Given the description of an element on the screen output the (x, y) to click on. 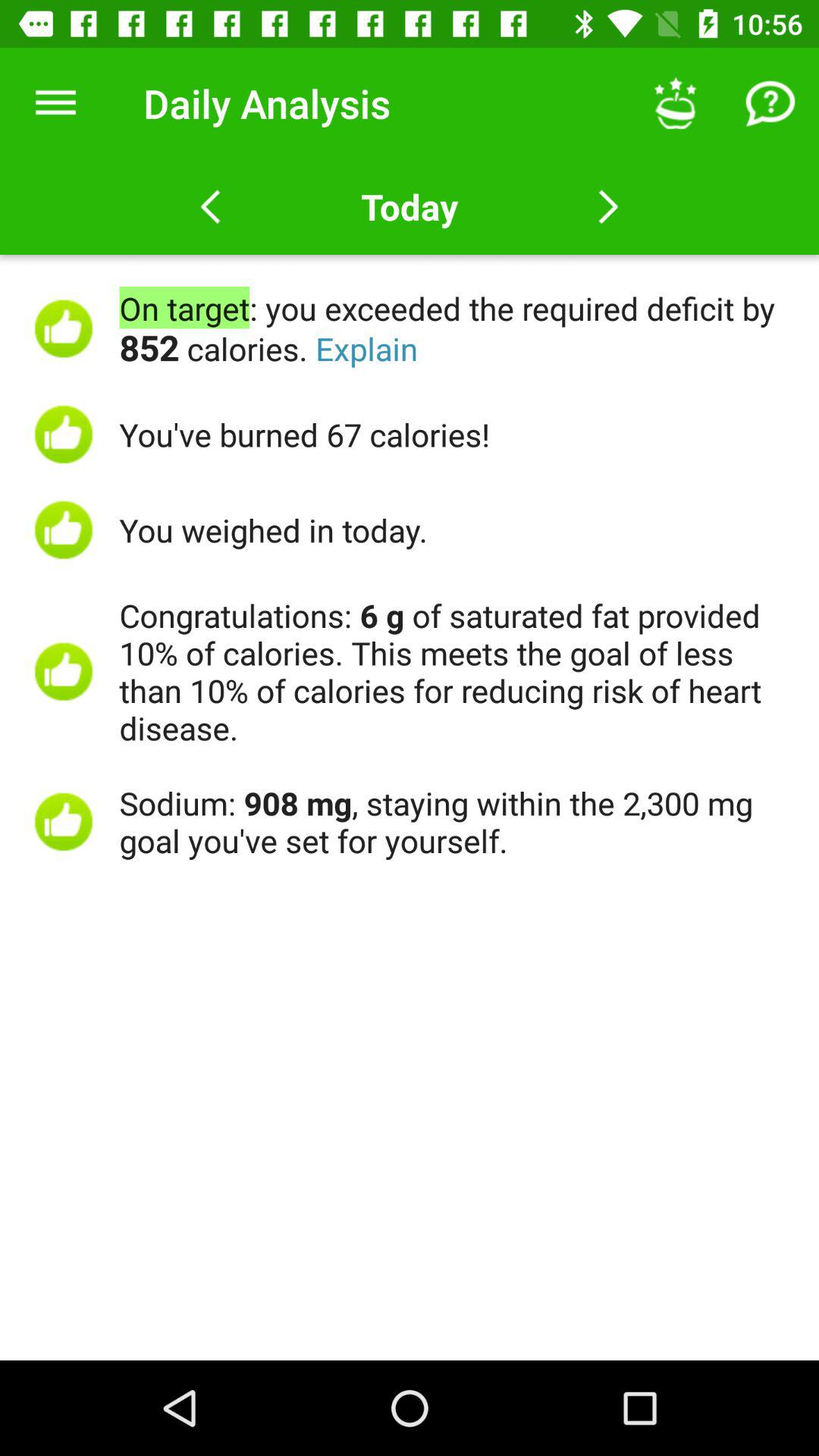
go to next (608, 206)
